Given the description of an element on the screen output the (x, y) to click on. 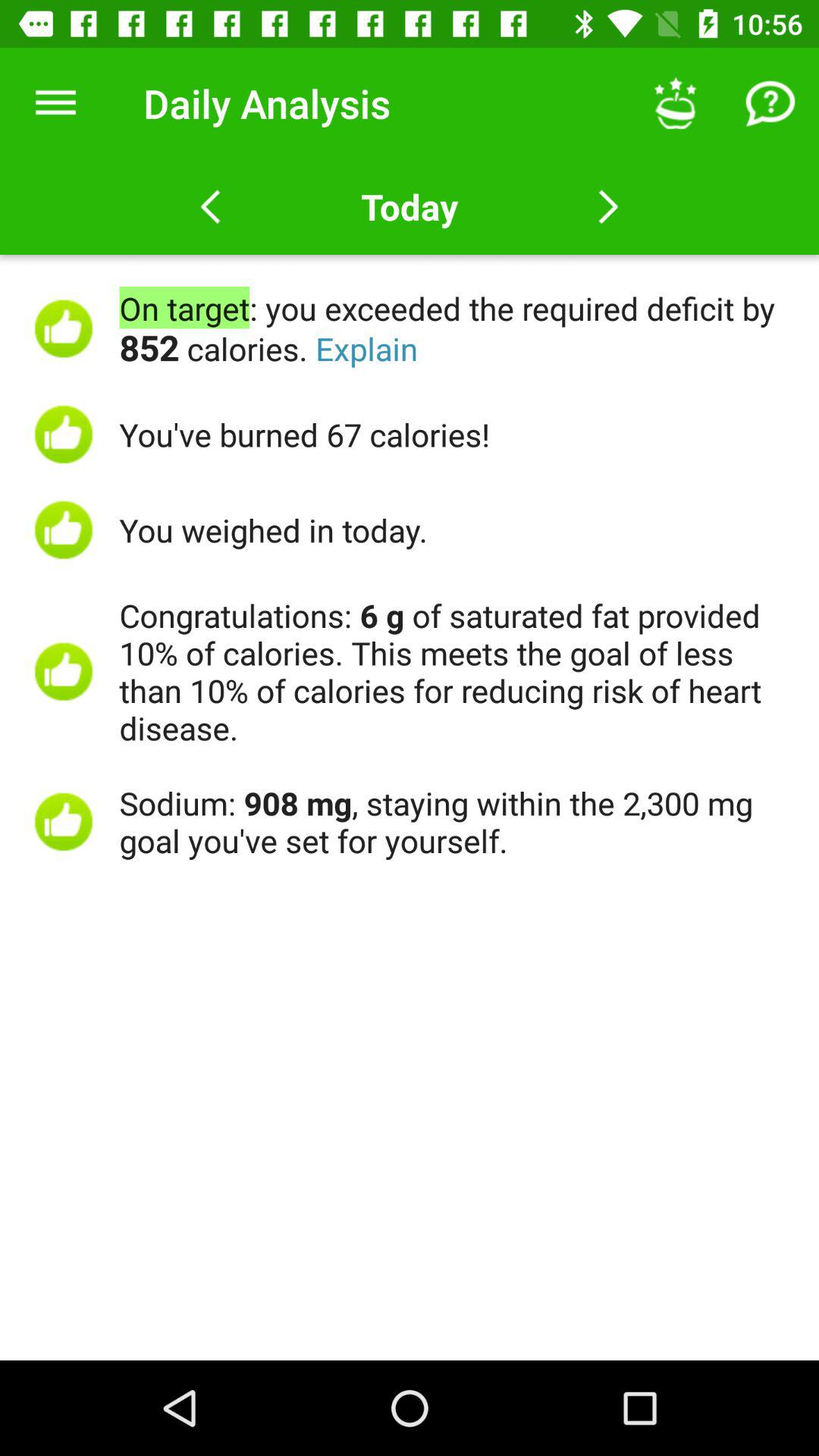
go to next (608, 206)
